Given the description of an element on the screen output the (x, y) to click on. 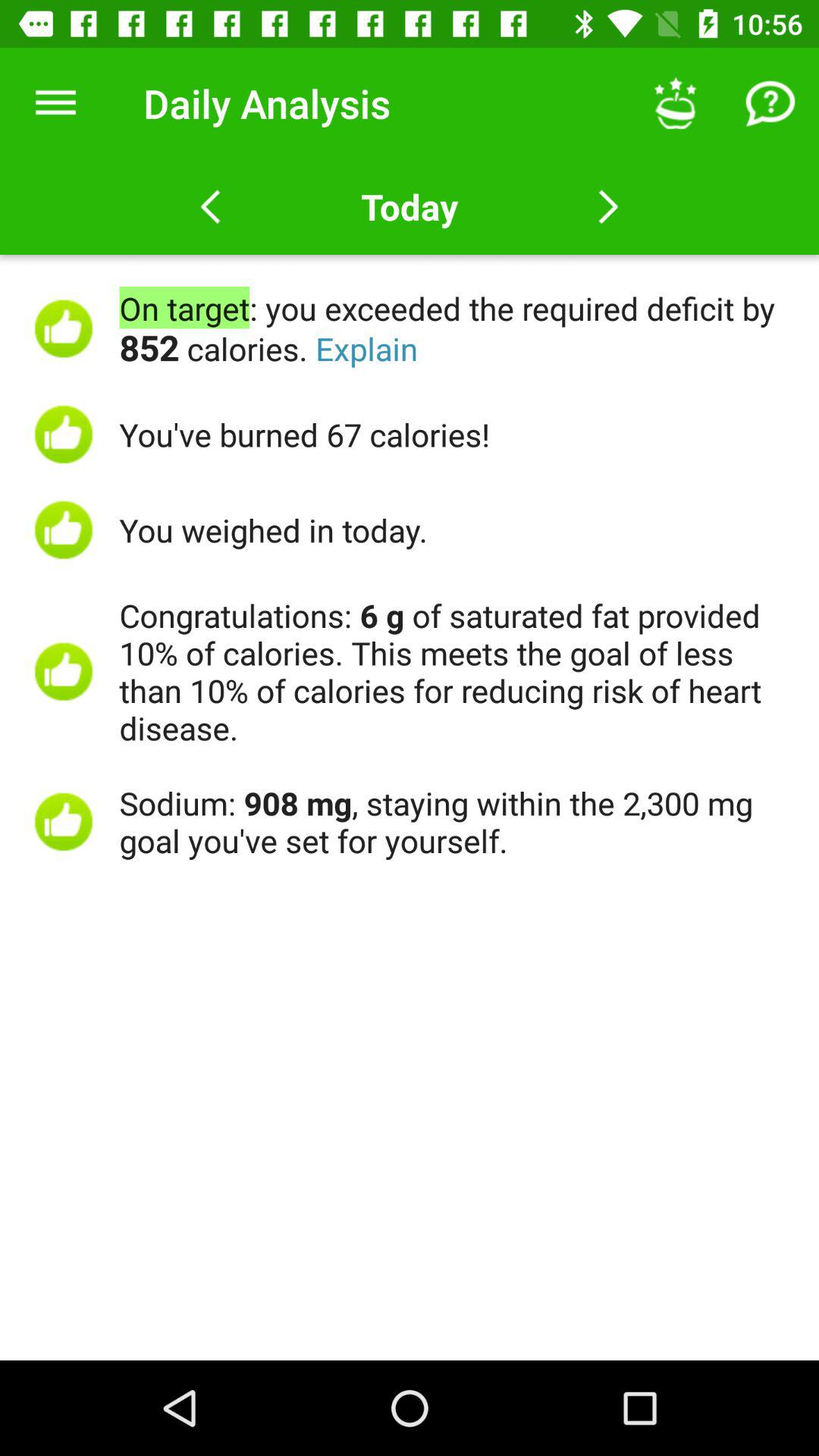
go to next (608, 206)
